Given the description of an element on the screen output the (x, y) to click on. 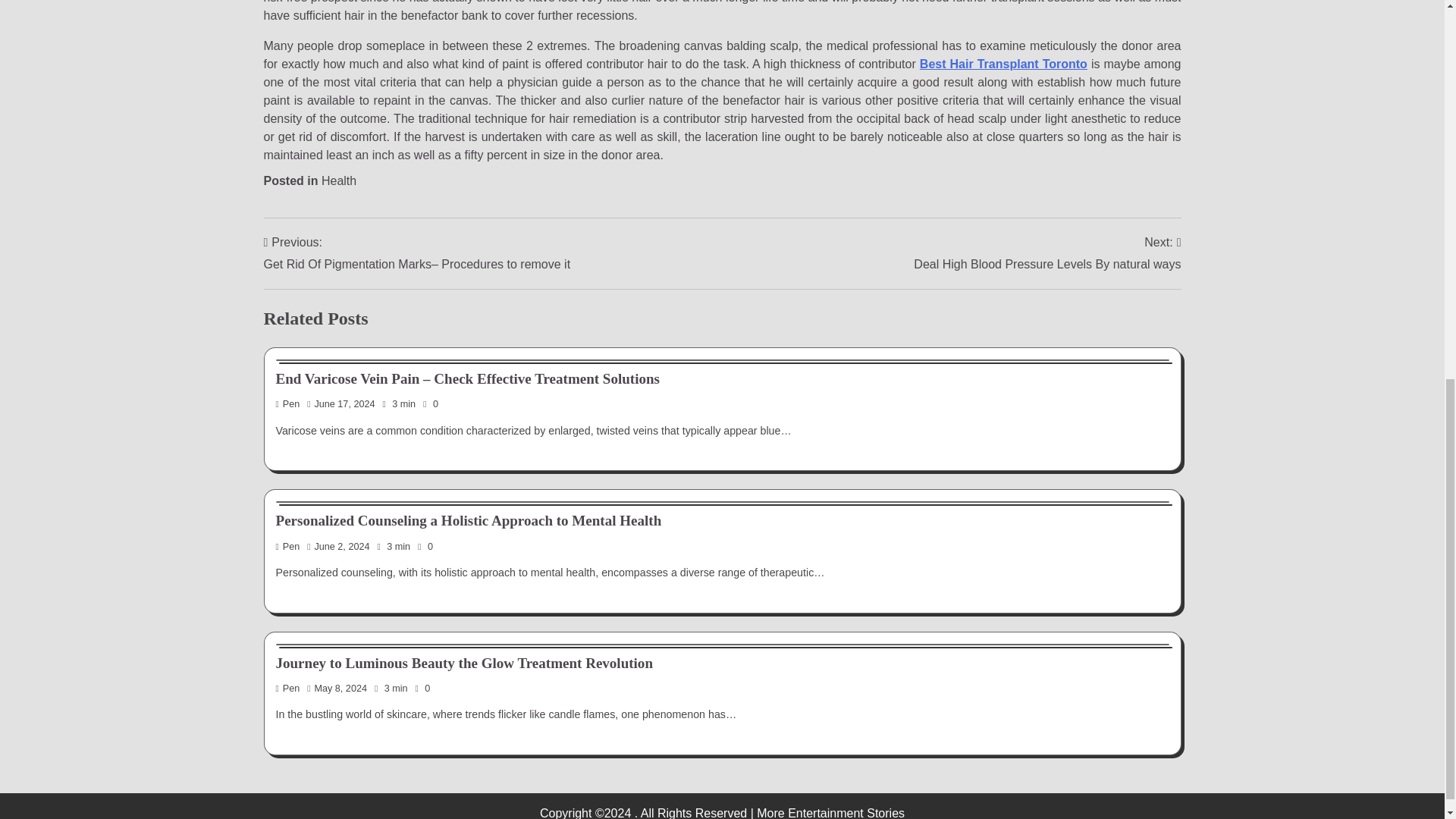
Pen (287, 403)
Journey to Luminous Beauty the Glow Treatment Revolution (464, 662)
Best Hair Transplant Toronto (1003, 63)
Pen (287, 546)
Pen (287, 688)
Health (1047, 253)
Personalized Counseling a Holistic Approach to Mental Health (338, 180)
